Given the description of an element on the screen output the (x, y) to click on. 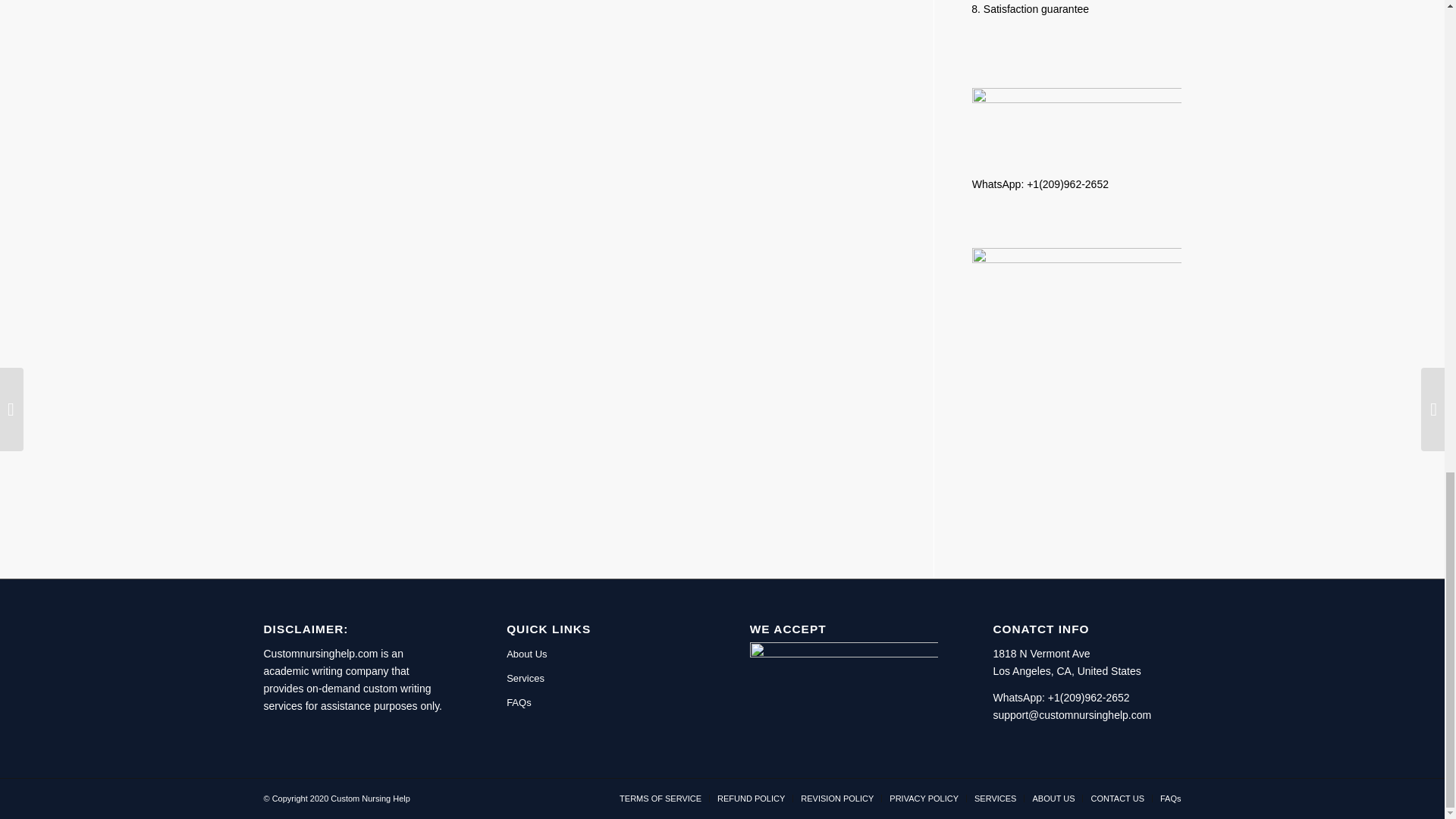
CONTACT US (1117, 798)
REVISION POLICY (836, 798)
FAQs (1170, 798)
Services (600, 678)
ABOUT US (1053, 798)
PRIVACY POLICY (923, 798)
REFUND POLICY (750, 798)
SERVICES (995, 798)
TERMS OF SERVICE (660, 798)
About Us (600, 654)
FAQs (600, 702)
